Given the description of an element on the screen output the (x, y) to click on. 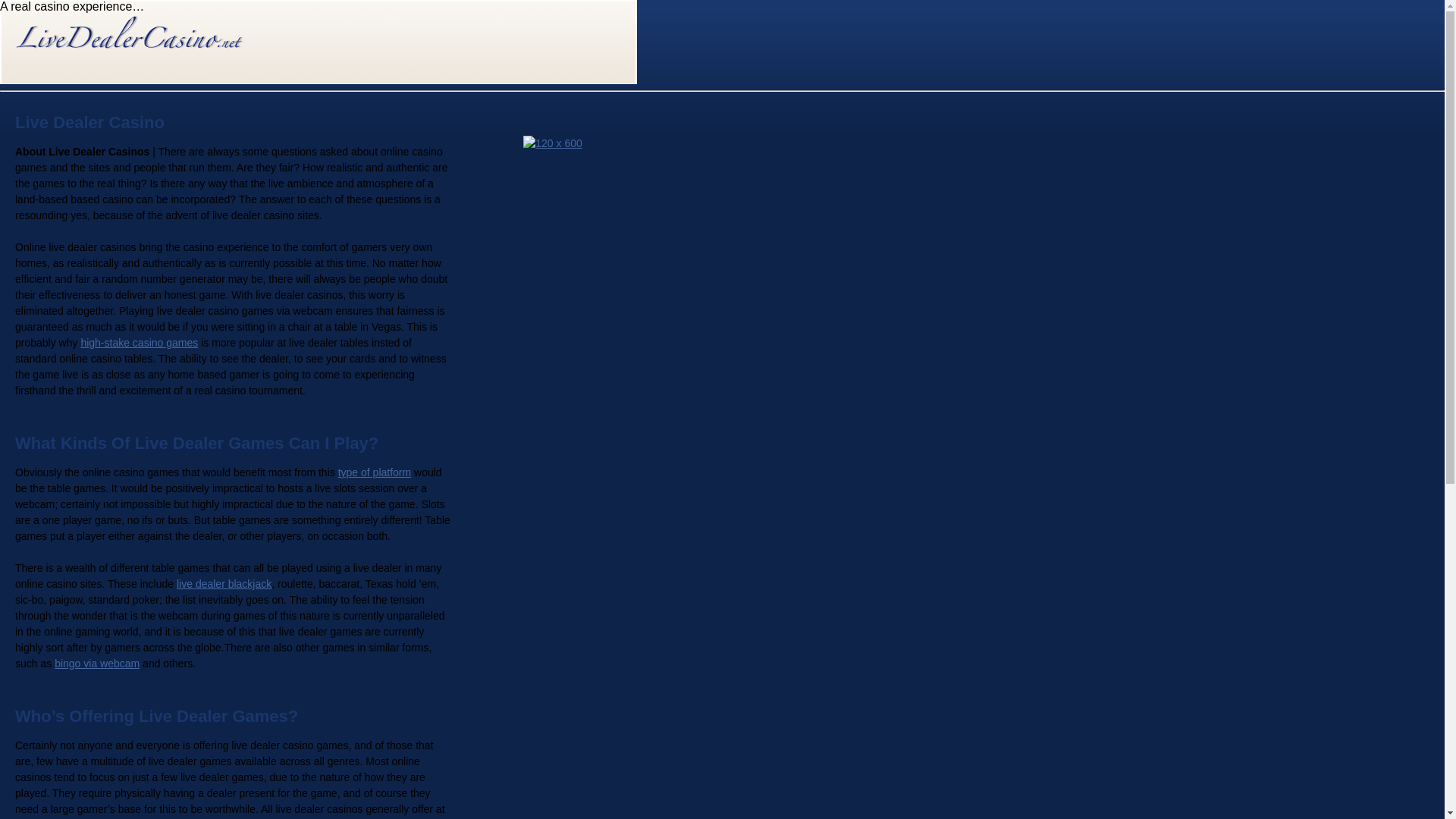
high-stake casino games (139, 342)
live dealer blackjack (223, 583)
bingo via webcam (97, 663)
Live Dealer Casino (140, 33)
type of platform (374, 472)
